Given the description of an element on the screen output the (x, y) to click on. 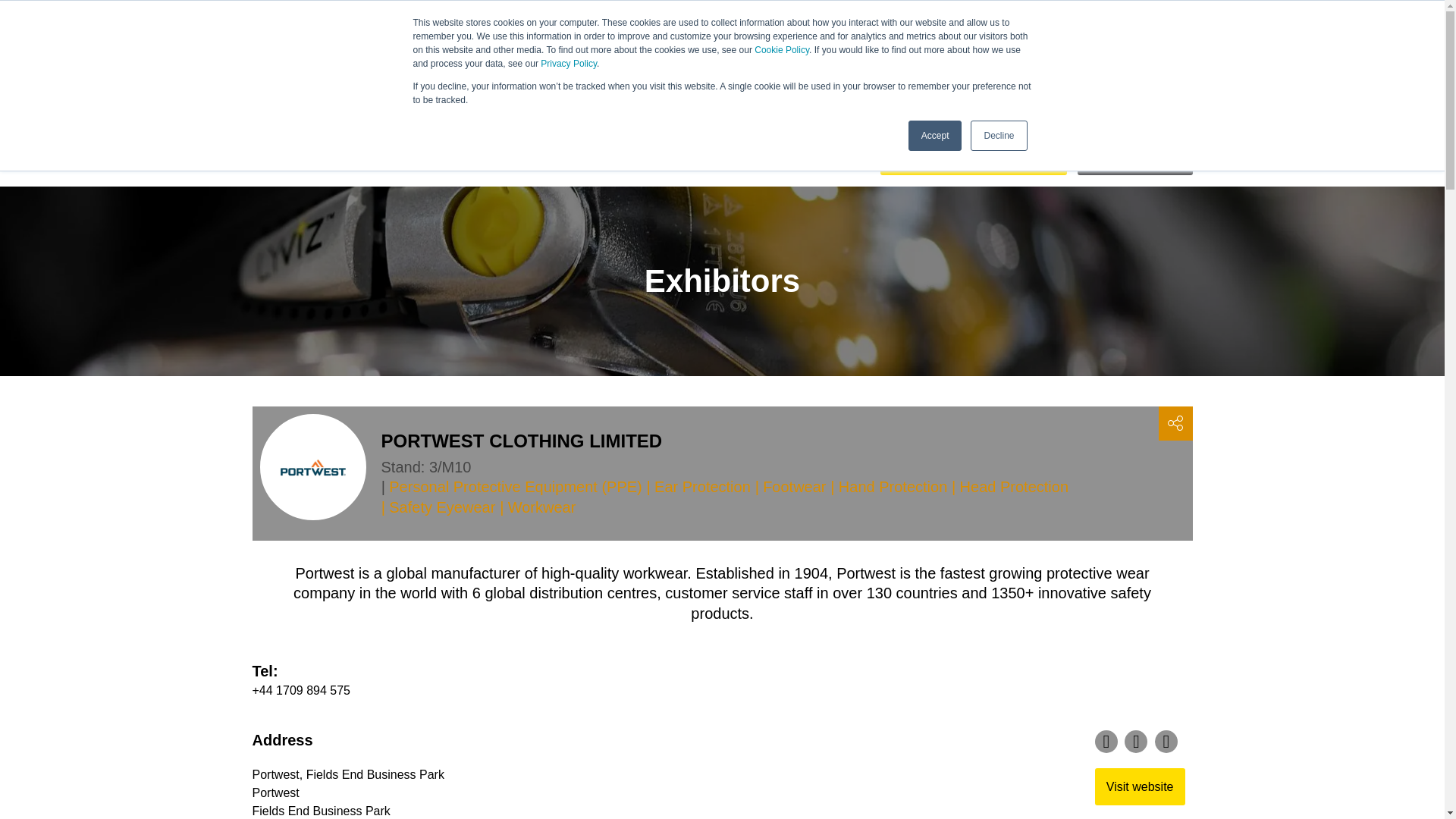
Cookie Policy (781, 50)
Decline (998, 135)
Accept (935, 135)
Privacy Policy (568, 63)
